Given the description of an element on the screen output the (x, y) to click on. 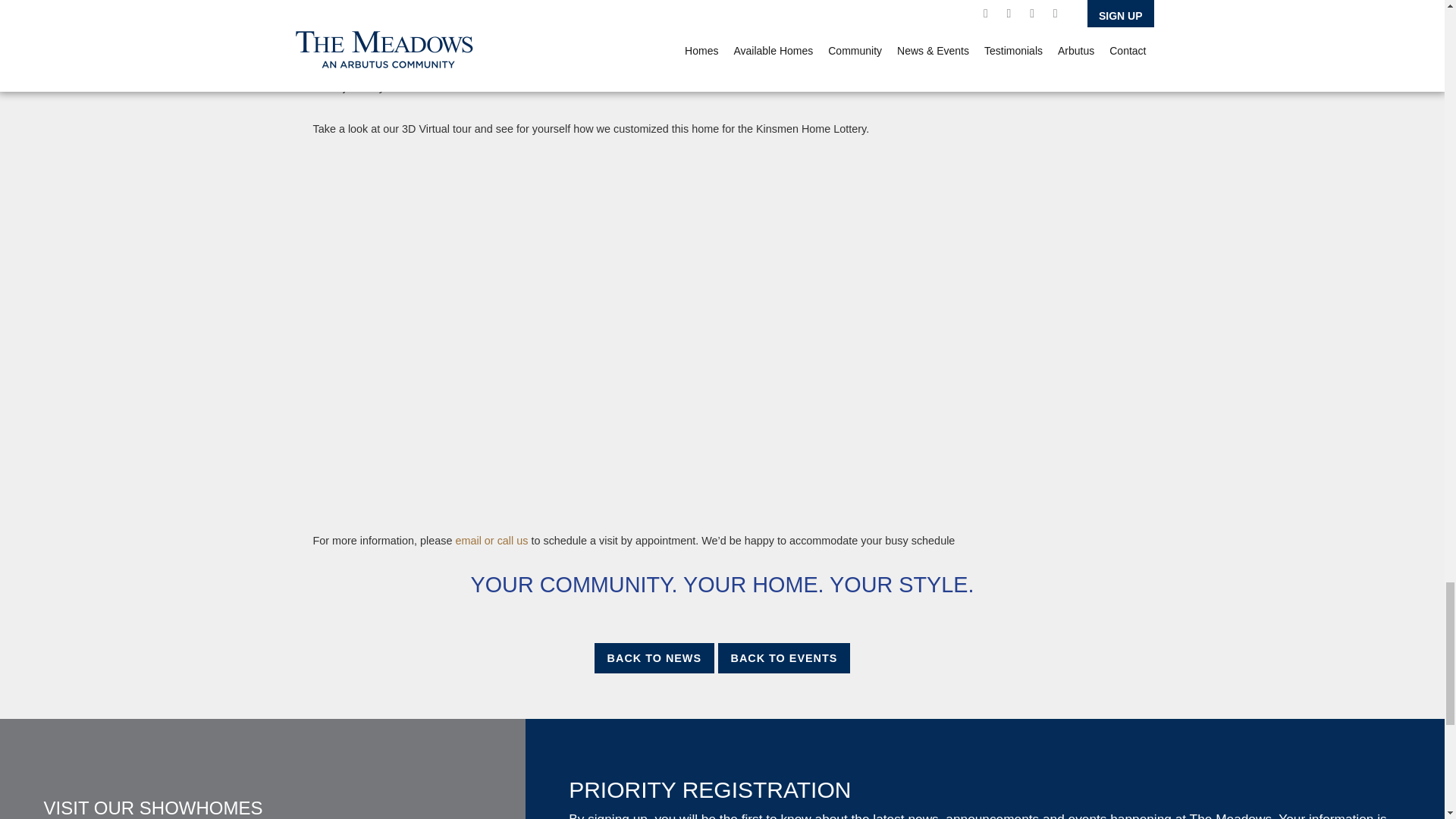
 email or call us (489, 540)
BACK TO NEWS (654, 657)
BACK TO EVENTS (783, 657)
